Given the description of an element on the screen output the (x, y) to click on. 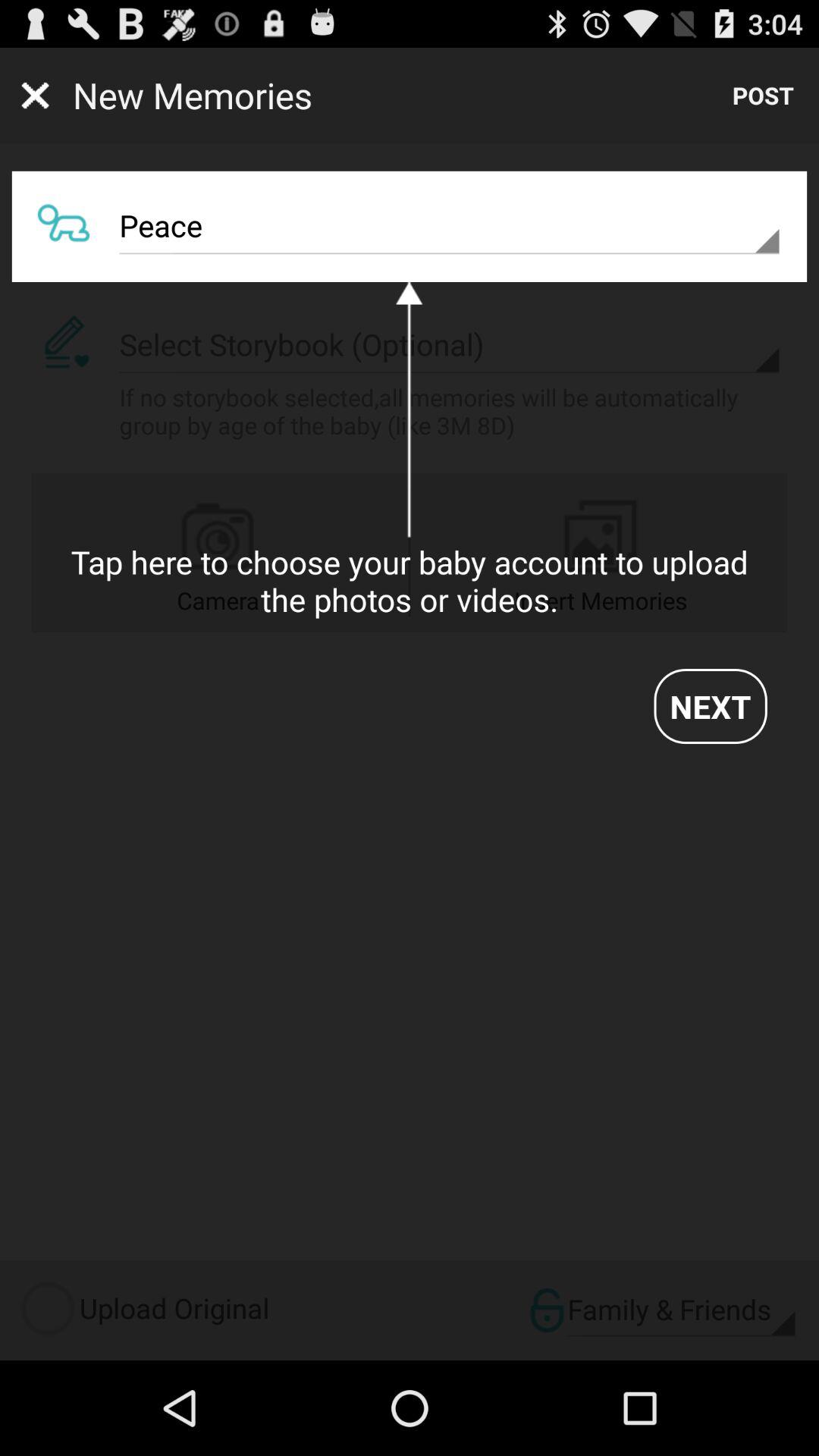
choose app on the right (710, 705)
